Given the description of an element on the screen output the (x, y) to click on. 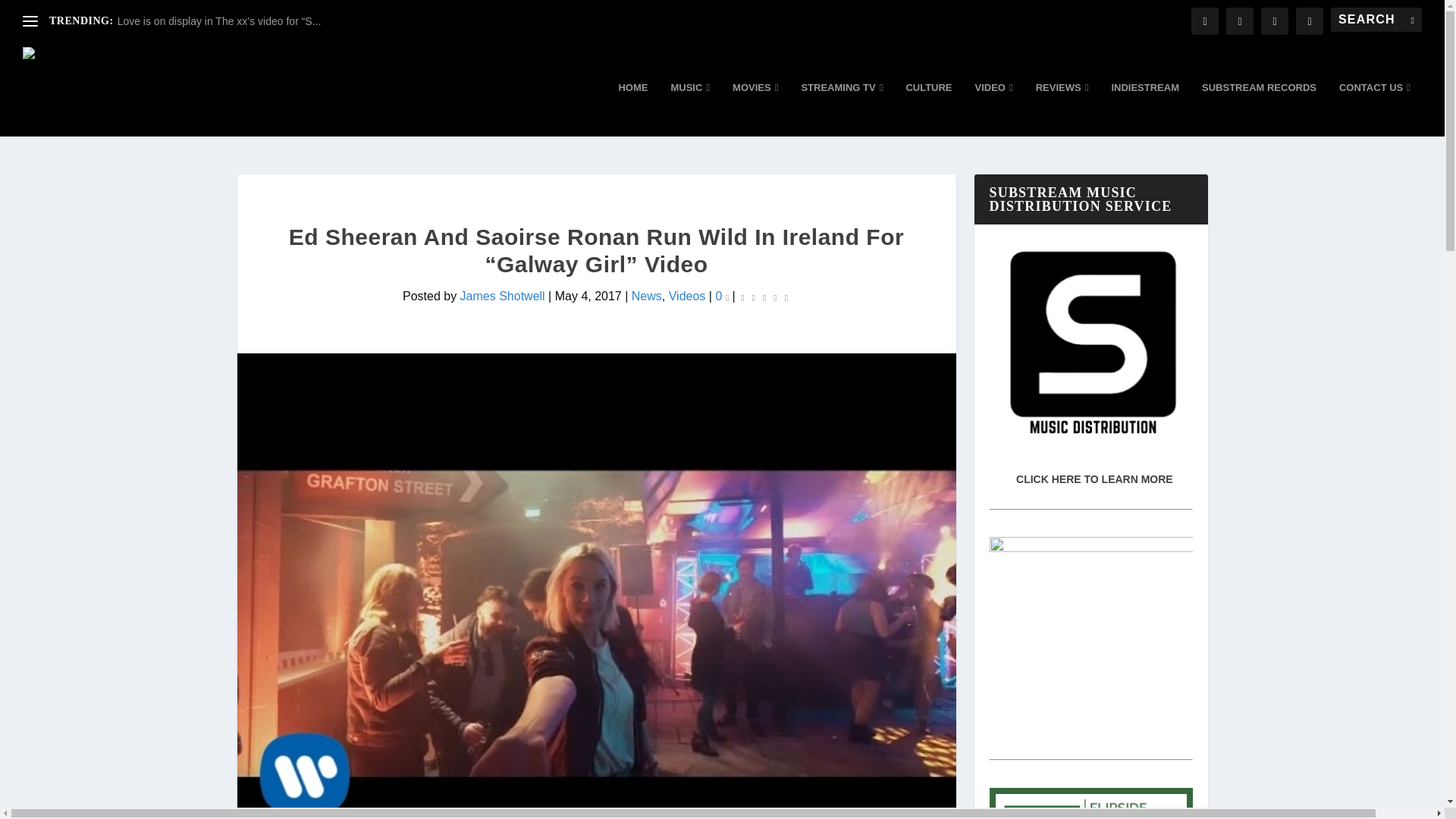
STREAMING TV (841, 108)
Posts by James Shotwell (502, 295)
REVIEWS (1062, 108)
Search for: (1376, 19)
Rating: 0.00 (764, 296)
